Given the description of an element on the screen output the (x, y) to click on. 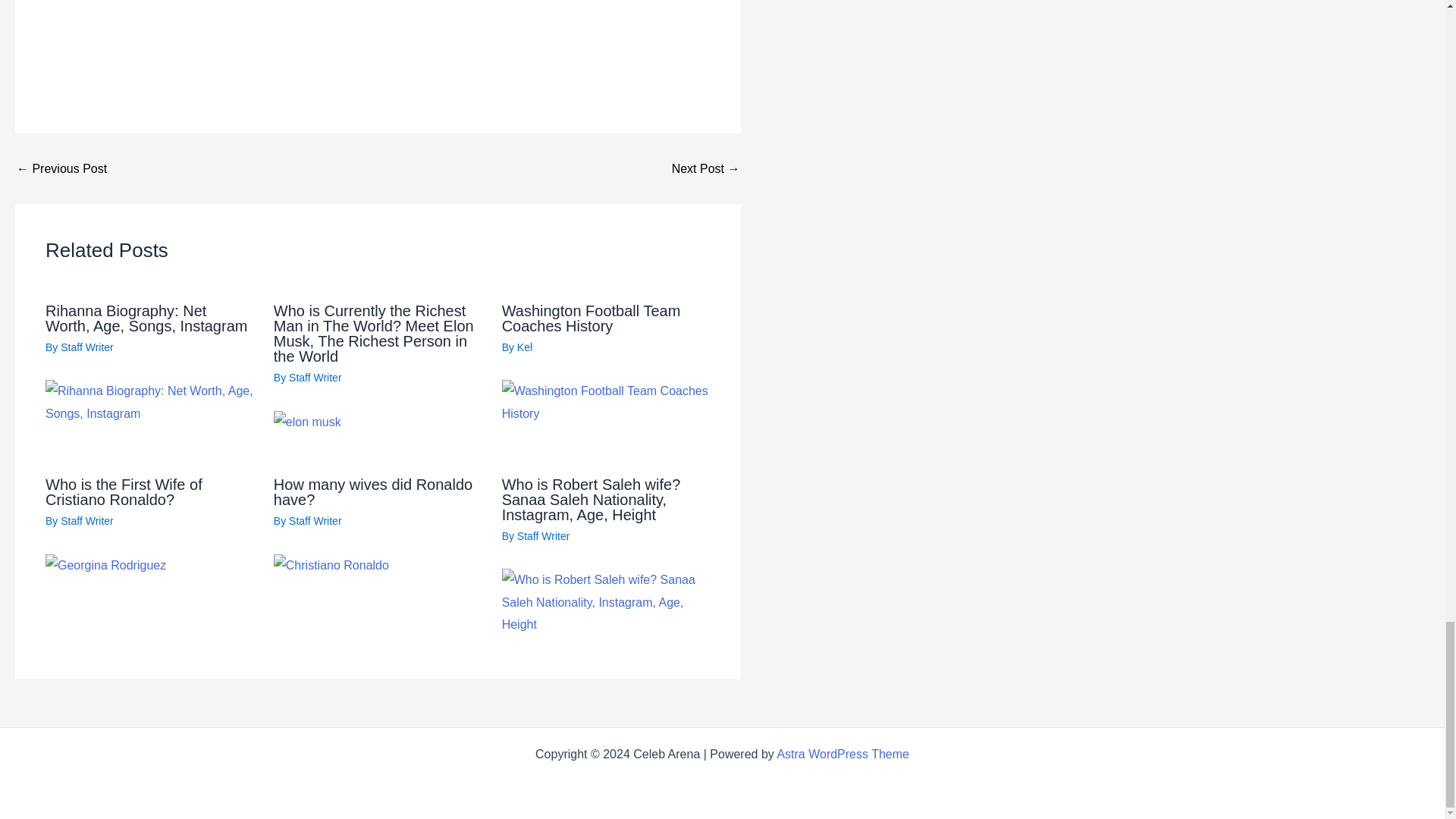
Cristiano Ronaldo Height: How Tall is Cristiano Ronaldo? (705, 168)
View all posts by Kel (524, 346)
View all posts by Staff Writer (315, 521)
View all posts by Staff Writer (315, 377)
View all posts by Staff Writer (87, 521)
View all posts by Staff Writer (543, 535)
View all posts by Staff Writer (87, 346)
